Given the description of an element on the screen output the (x, y) to click on. 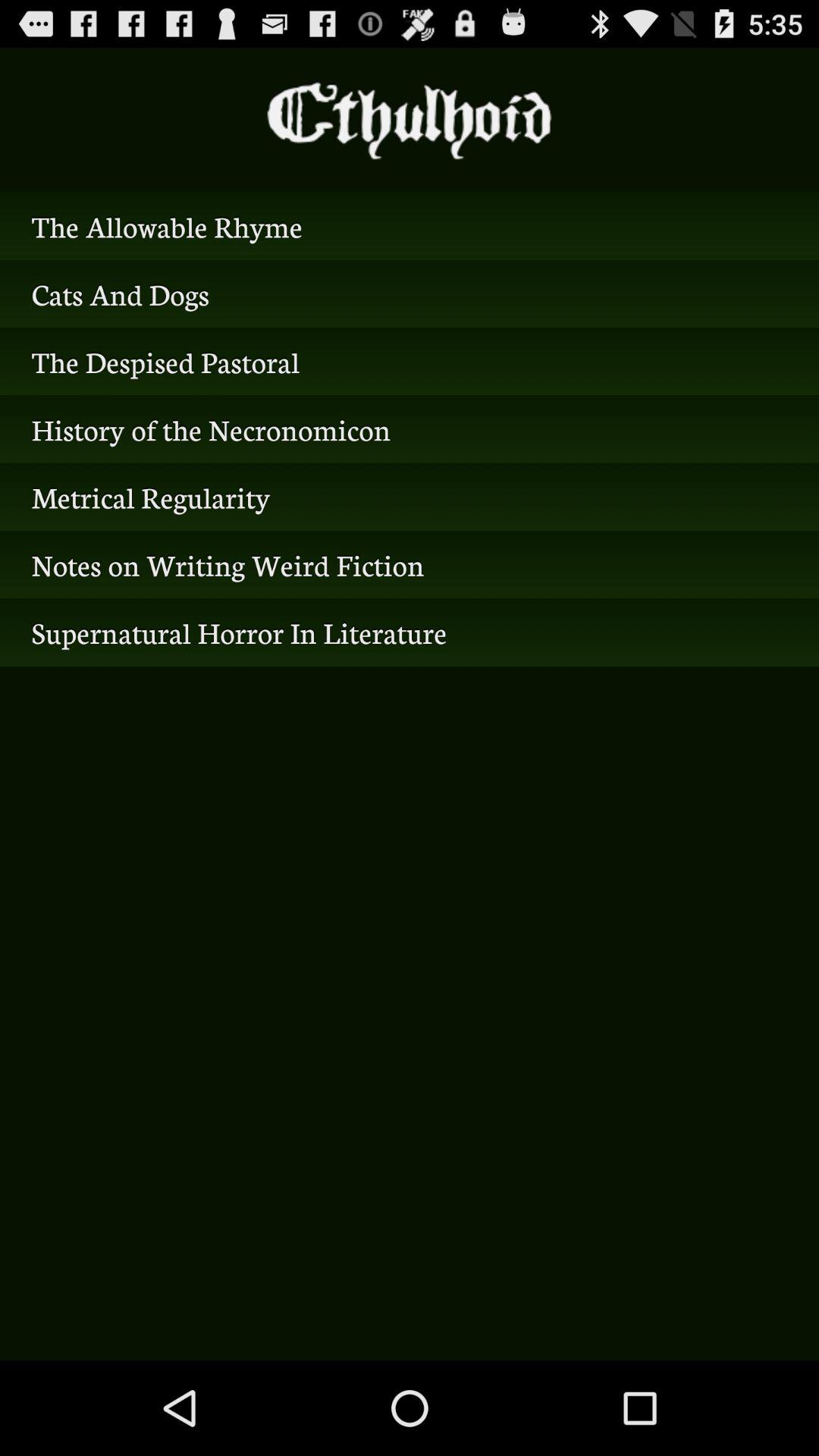
choose the item below the allowable rhyme item (409, 293)
